Given the description of an element on the screen output the (x, y) to click on. 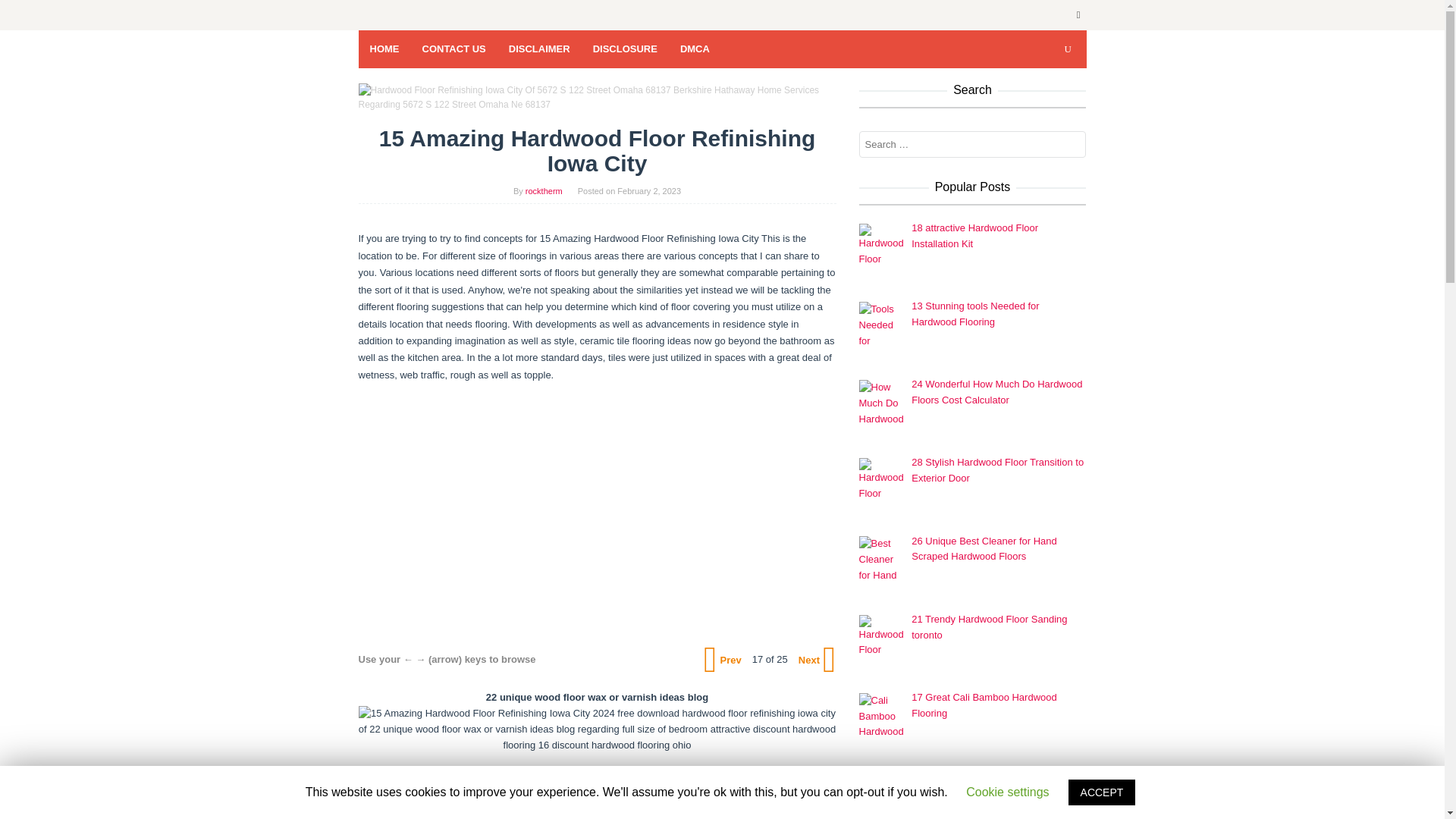
DISCLOSURE (624, 48)
Next (814, 659)
CONTACT US (453, 48)
17 Great Cali Bamboo Hardwood Flooring (984, 705)
28 Stylish Hardwood Floor Transition to Exterior Door (997, 470)
26 Unique Best Cleaner for Hand Scraped Hardwood Floors (984, 548)
